Given the description of an element on the screen output the (x, y) to click on. 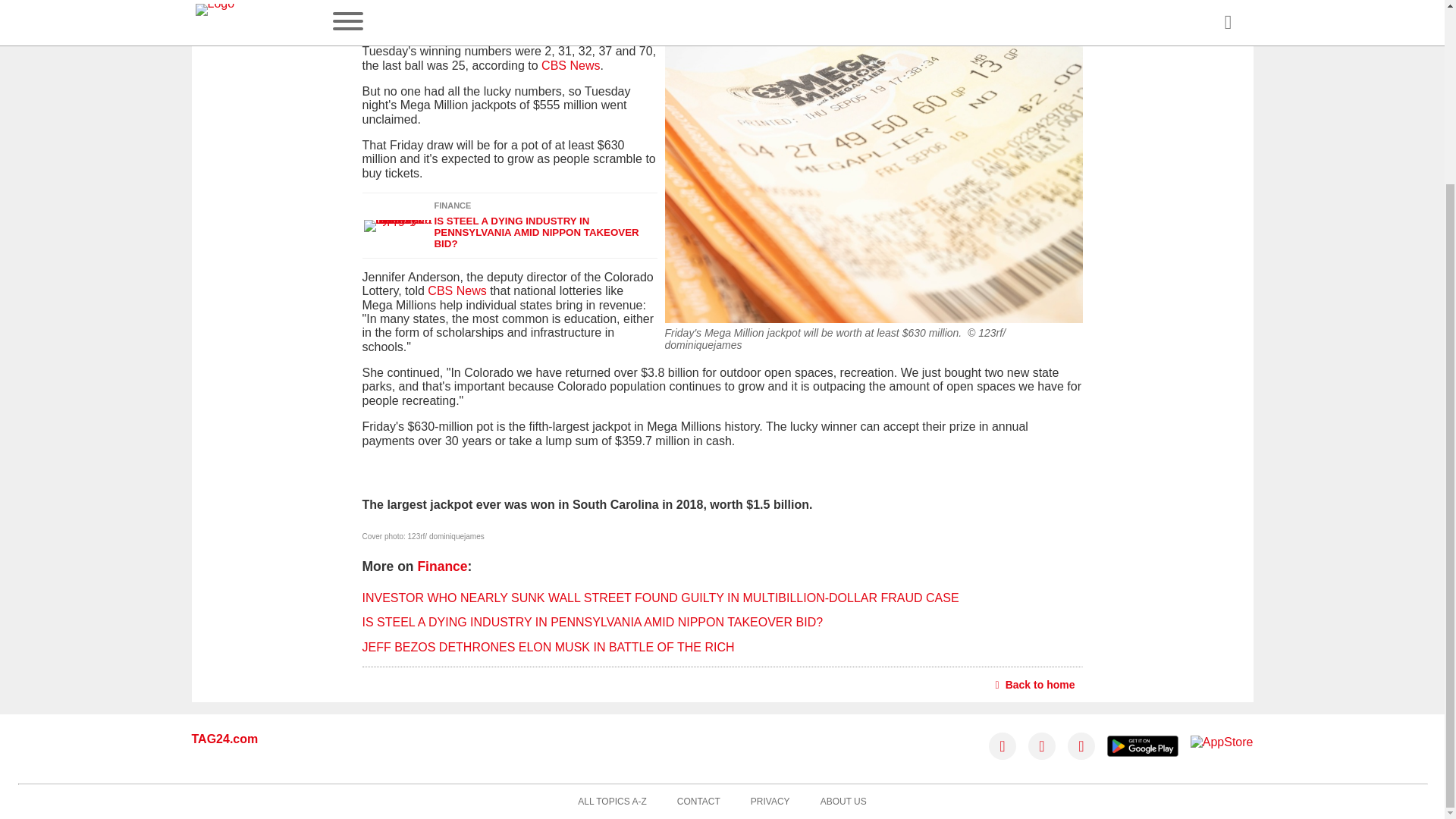
JEFF BEZOS DETHRONES ELON MUSK IN BATTLE OF THE RICH (548, 646)
ALL TOPICS A-Z (612, 801)
Finance (441, 566)
ABOUT US (843, 801)
CBS News (457, 290)
PRIVACY (770, 801)
CBS News (570, 65)
